Given the description of an element on the screen output the (x, y) to click on. 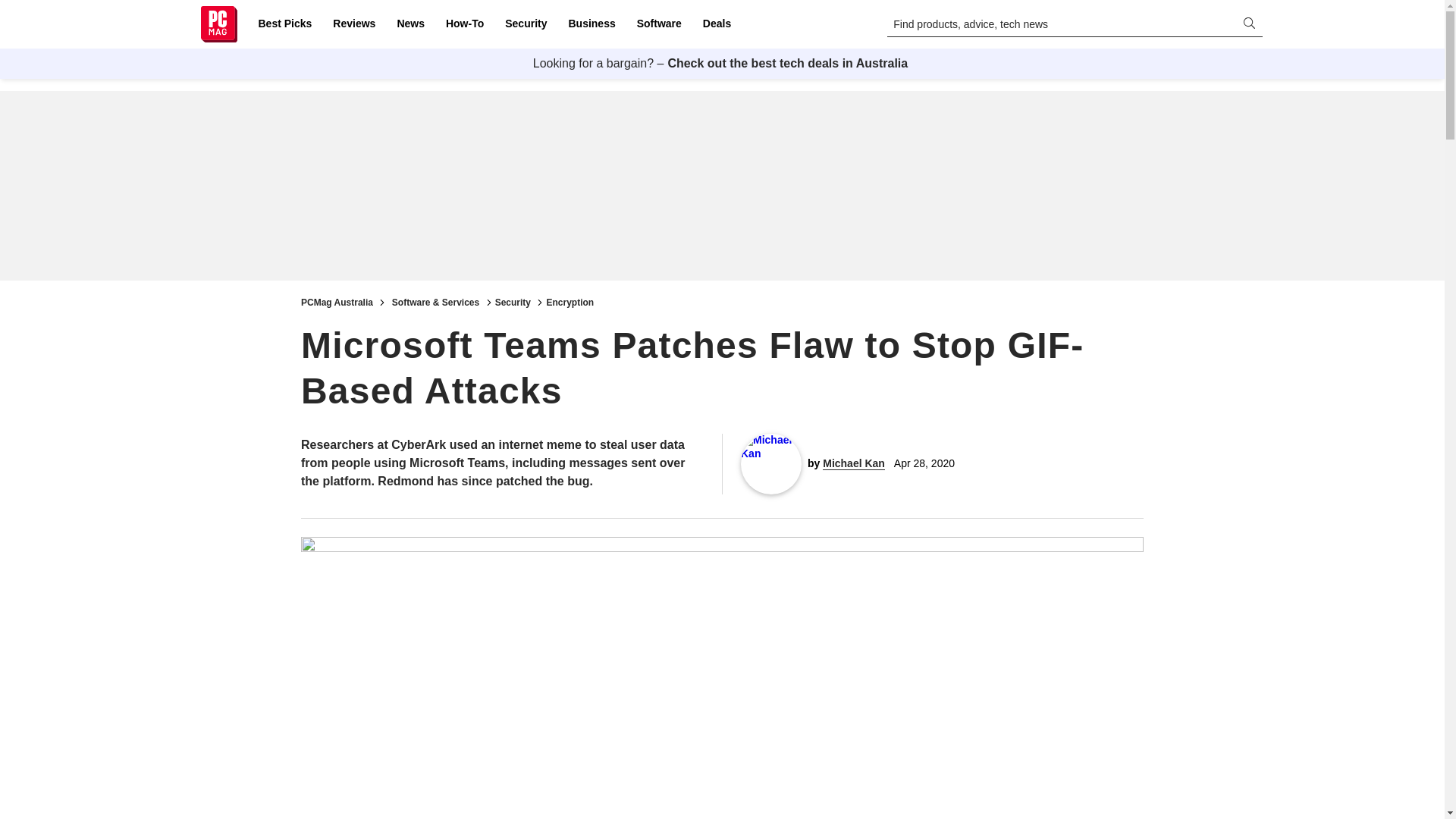
Reviews (353, 24)
Best Picks (284, 24)
Business (591, 24)
How-To (464, 24)
Security (526, 24)
